Given the description of an element on the screen output the (x, y) to click on. 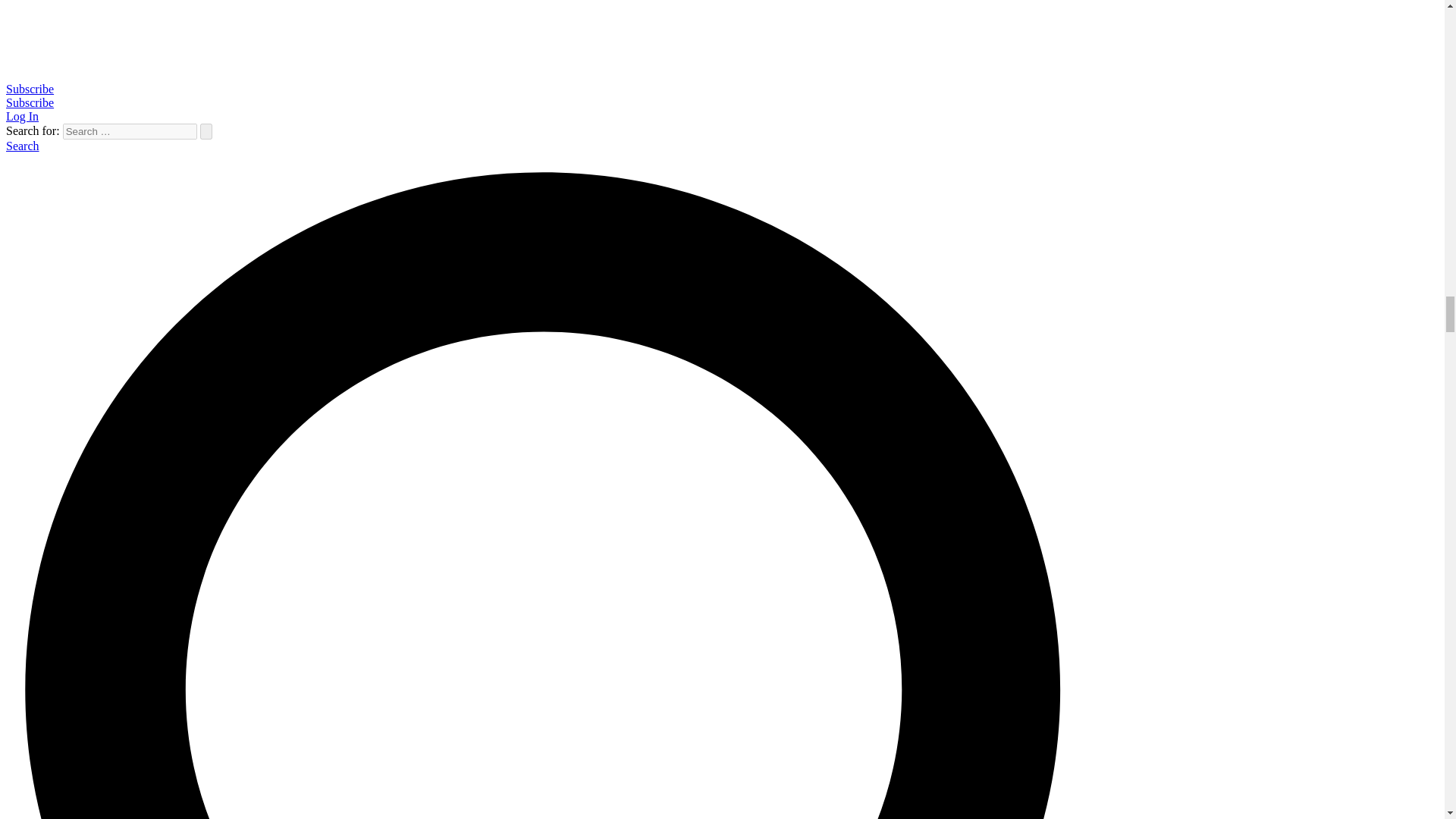
Log In (22, 115)
Subscribe (29, 102)
